Given the description of an element on the screen output the (x, y) to click on. 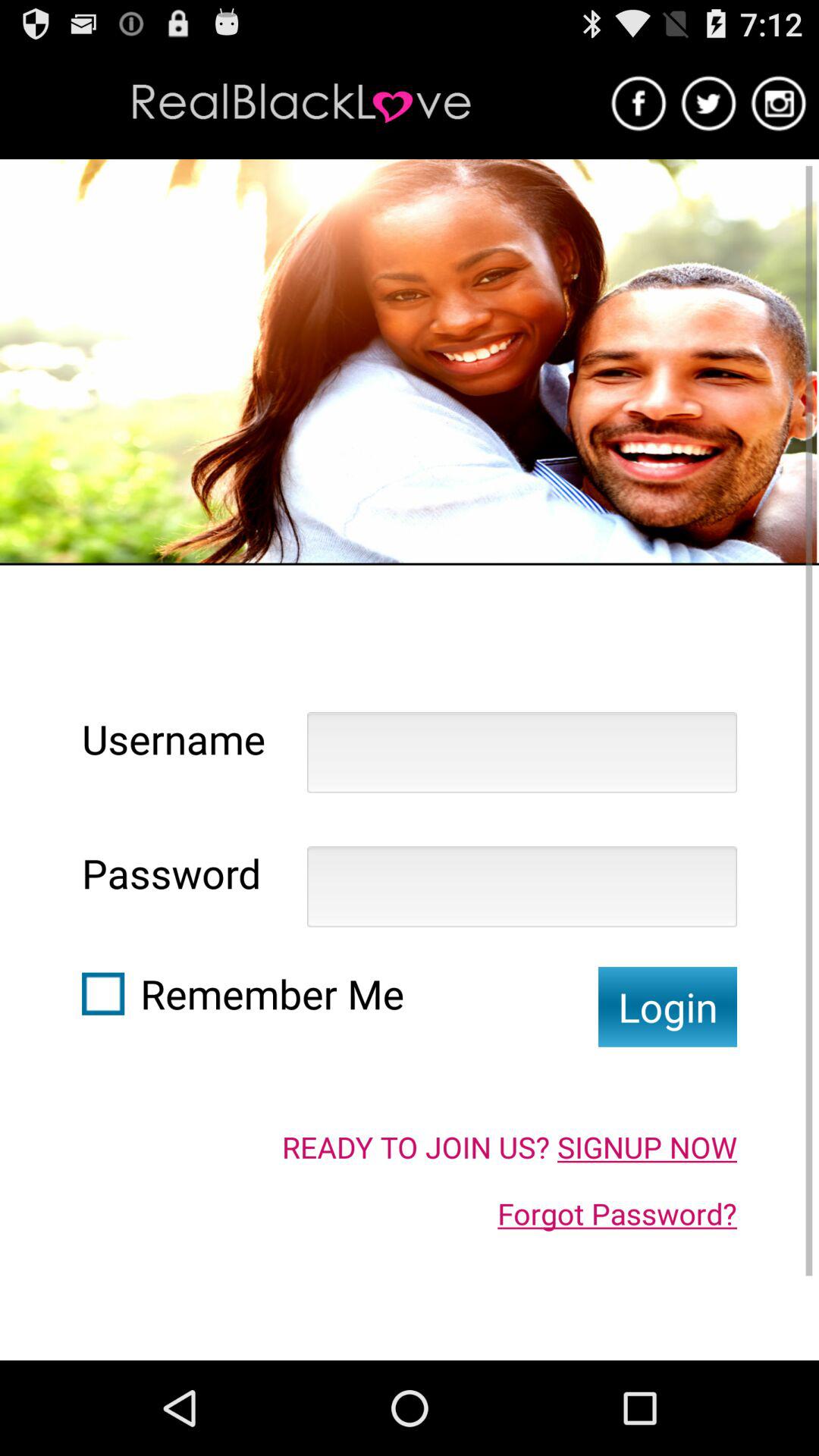
press the forgot password? app (617, 1213)
